Given the description of an element on the screen output the (x, y) to click on. 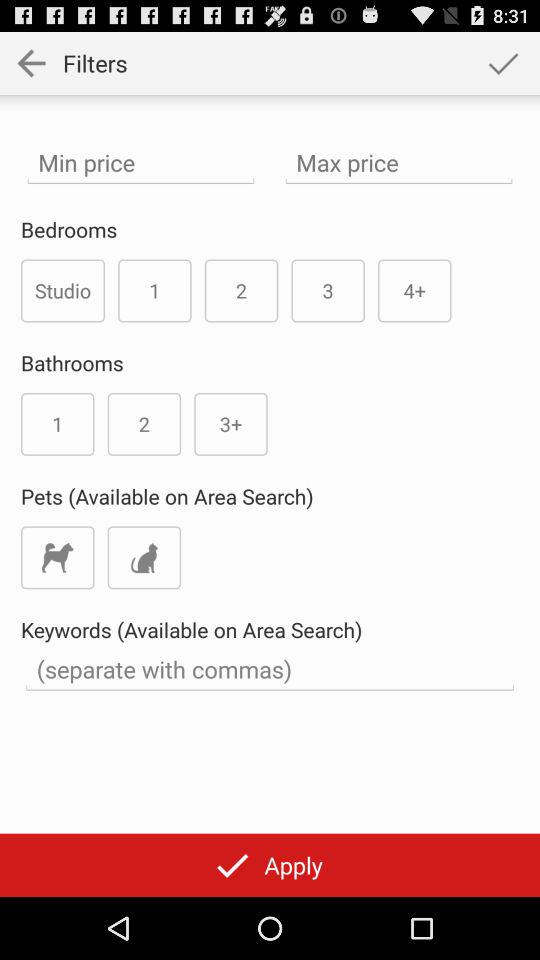
search cats (144, 557)
